Given the description of an element on the screen output the (x, y) to click on. 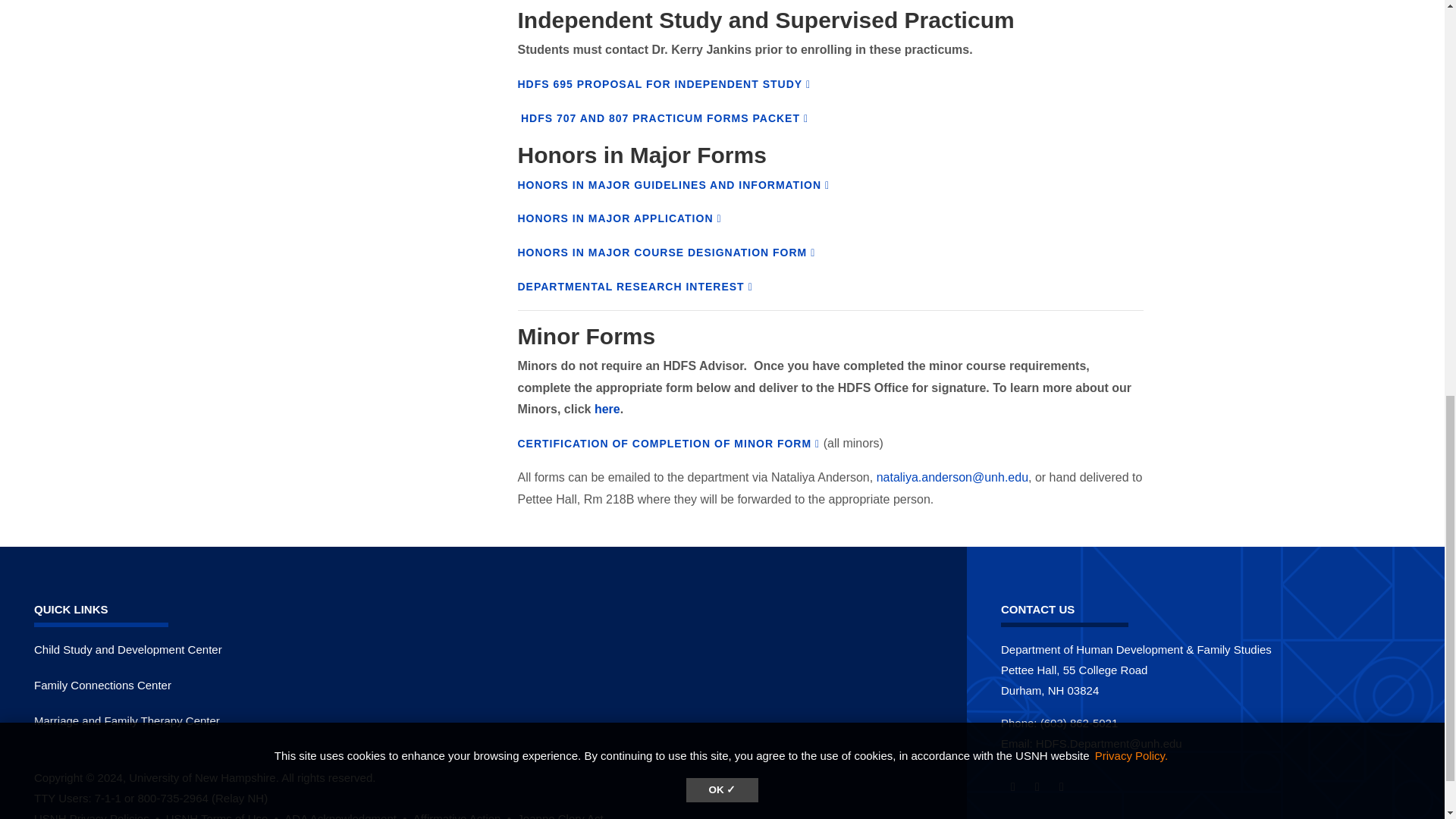
Research (634, 286)
Marriage and Family Therapy Center (126, 720)
independent-study-proposal-form-2019.pdf (663, 83)
Learn (97, 815)
Family Connections Center (102, 684)
minorform.pdf (667, 443)
Child Study and Development Center (127, 649)
